Given the description of an element on the screen output the (x, y) to click on. 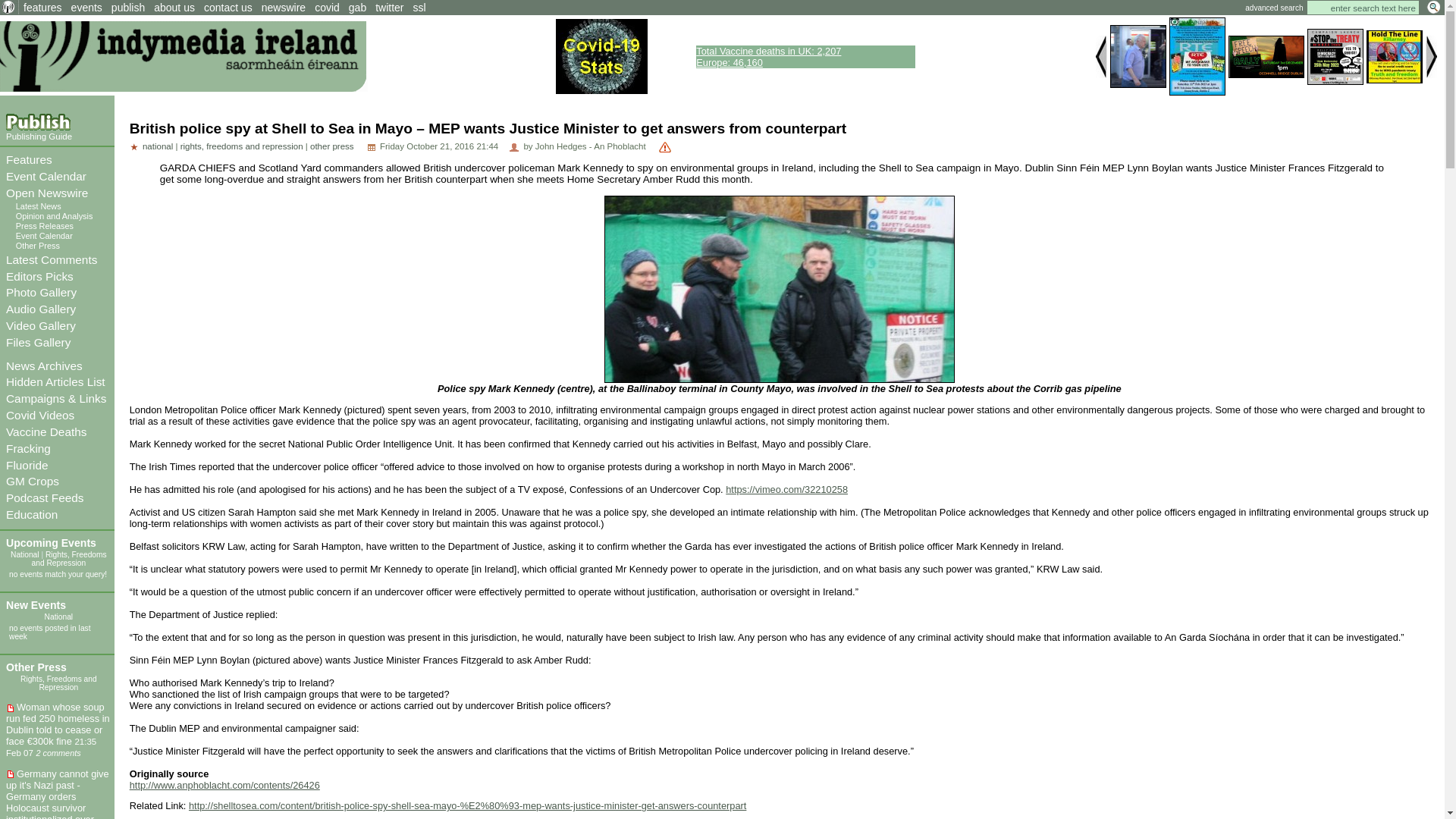
Press Releases (45, 225)
gab (357, 7)
Video Gallery (40, 325)
gab (357, 7)
publish (127, 7)
Publishing Guide (38, 135)
Rally to Defend Free Speech - O (1266, 56)
Hidden Articles List (54, 381)
about us (174, 7)
